Given the description of an element on the screen output the (x, y) to click on. 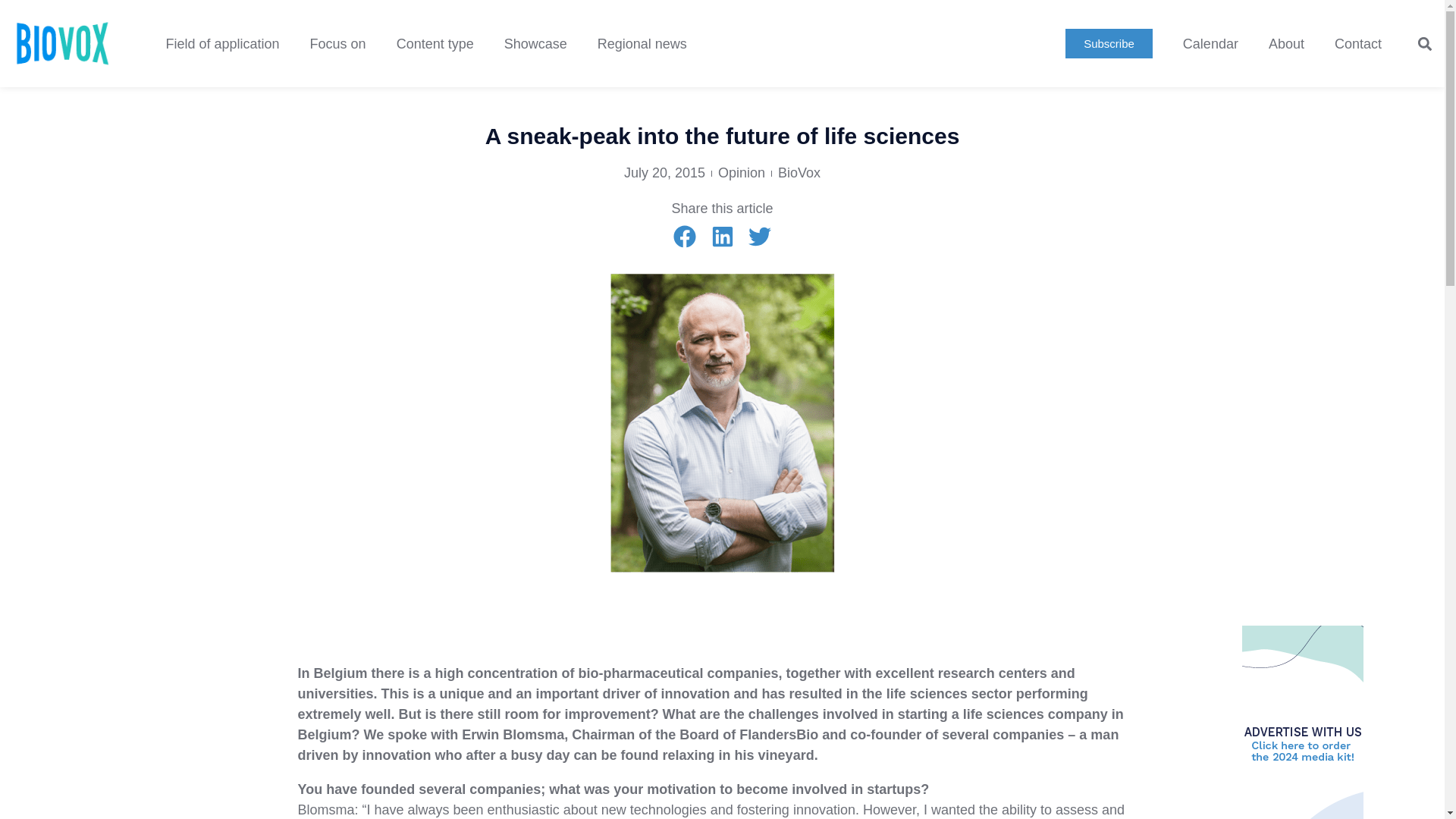
Regional news (641, 43)
Focus on (338, 43)
Field of application (221, 43)
Showcase (535, 43)
Content type (435, 43)
